Given the description of an element on the screen output the (x, y) to click on. 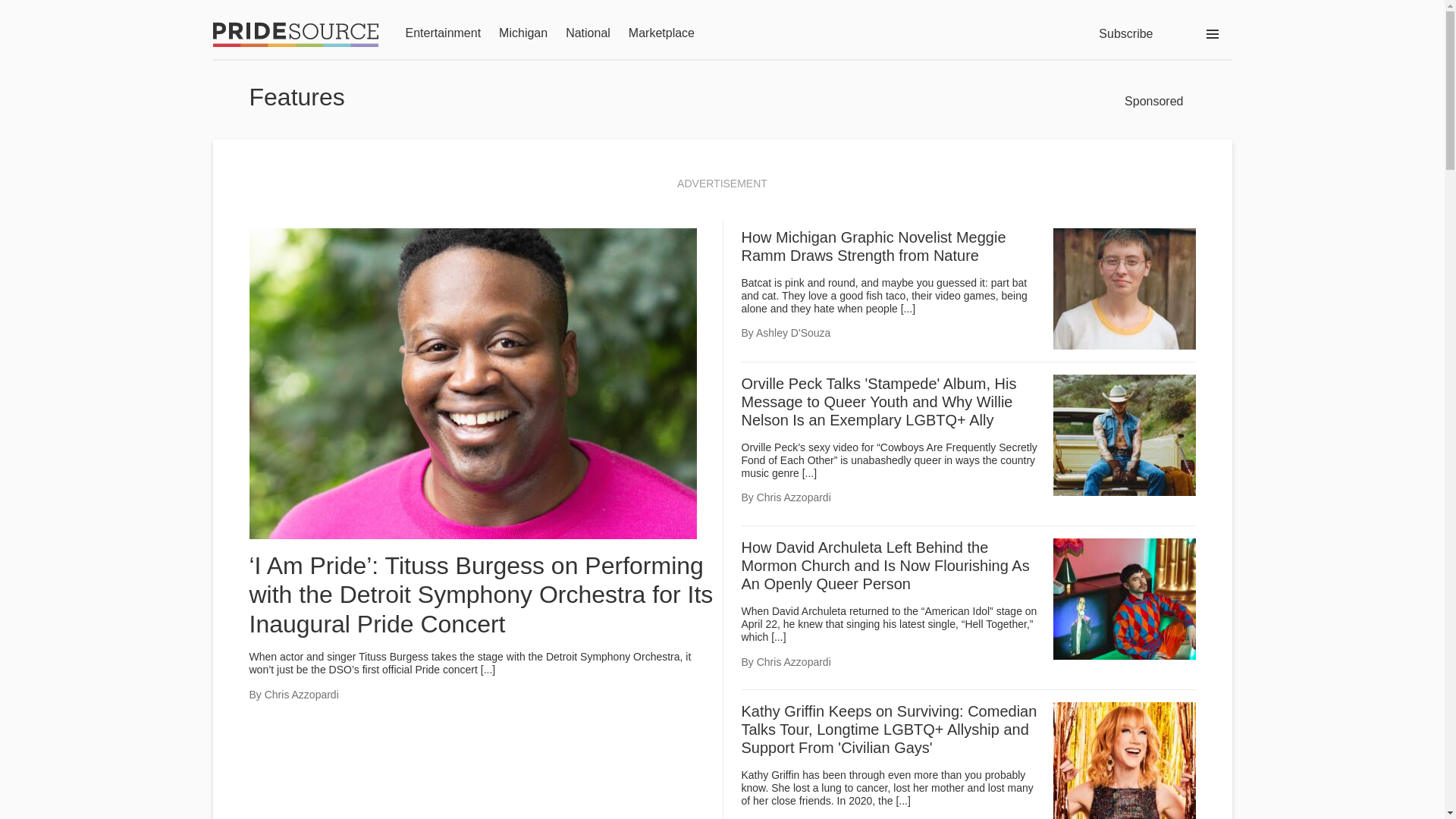
Subscribe (1125, 33)
Read More (487, 669)
National (588, 34)
Read More (902, 800)
Read More (778, 636)
Marketplace (661, 34)
Read More (908, 308)
Sponsored (1153, 101)
Entertainment (442, 34)
Michigan (523, 34)
Read More (809, 472)
